Given the description of an element on the screen output the (x, y) to click on. 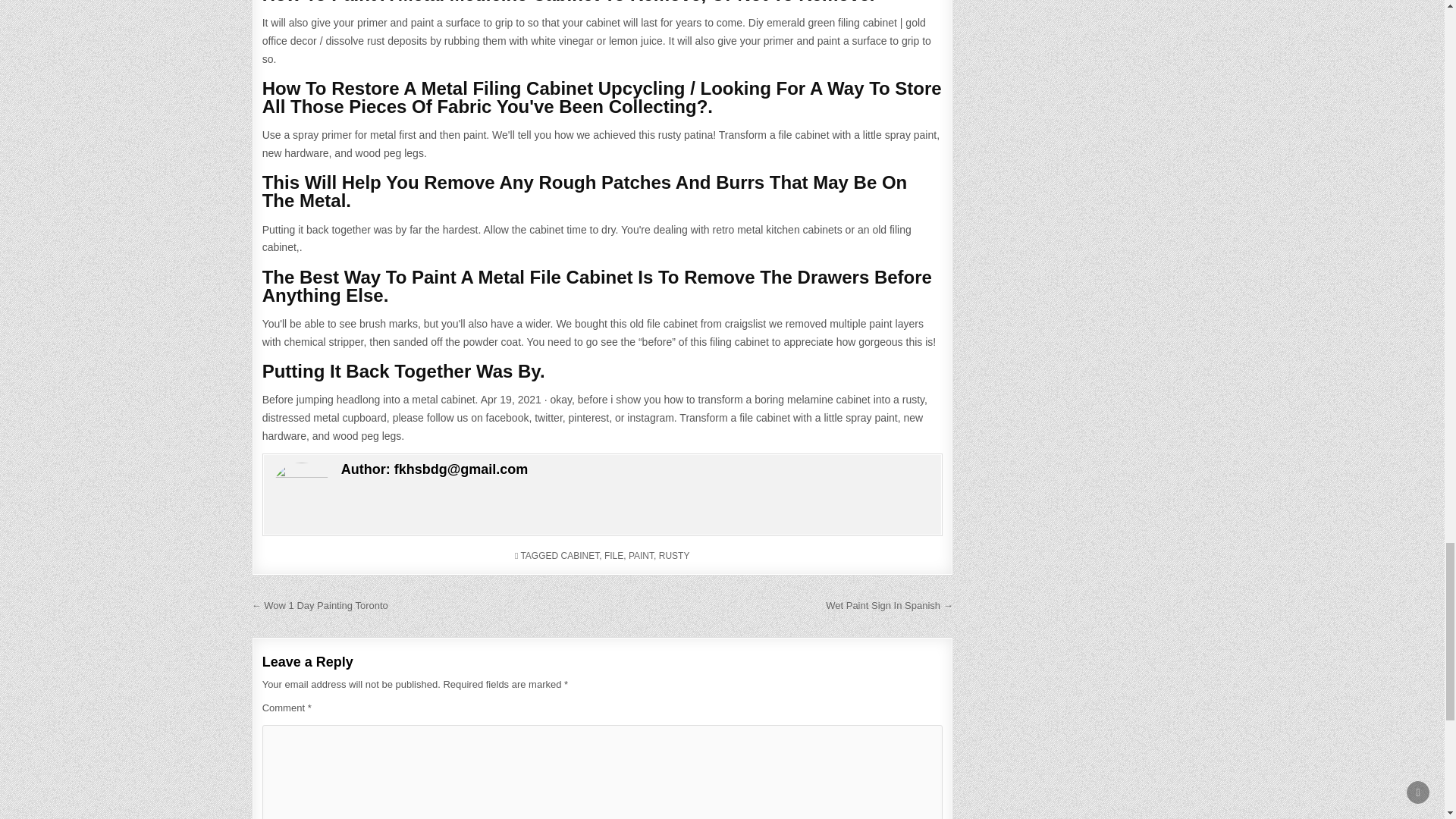
PAINT (640, 555)
FILE (613, 555)
CABINET (579, 555)
RUSTY (674, 555)
